Given the description of an element on the screen output the (x, y) to click on. 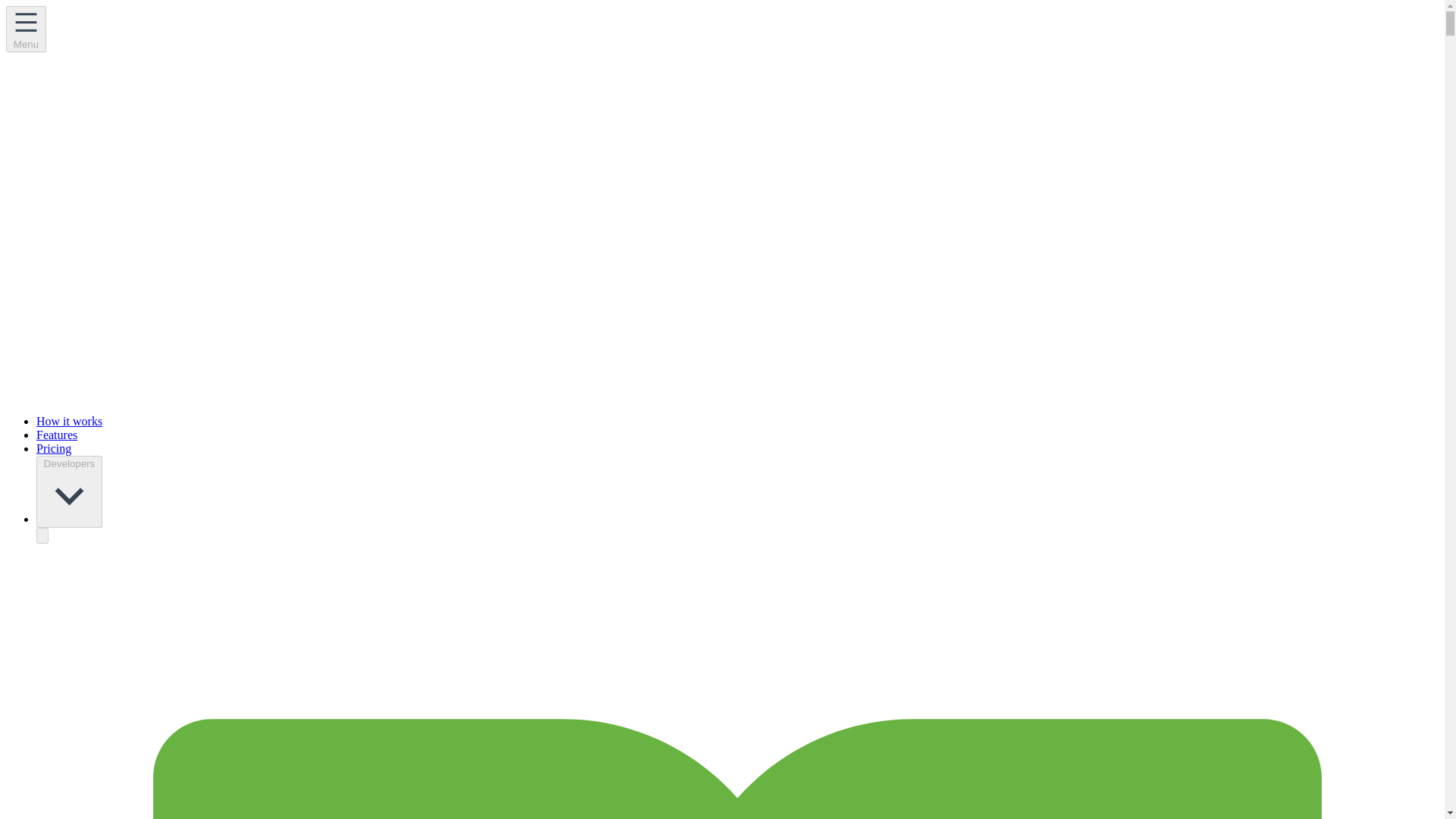
Form.io Home (118, 161)
Features (56, 434)
Pricing (53, 448)
Developers (68, 491)
Menu (25, 28)
Features (56, 434)
Developers (68, 491)
Form.io Home (118, 278)
Pricing (53, 448)
How it works (68, 420)
How it Works (68, 420)
